Given the description of an element on the screen output the (x, y) to click on. 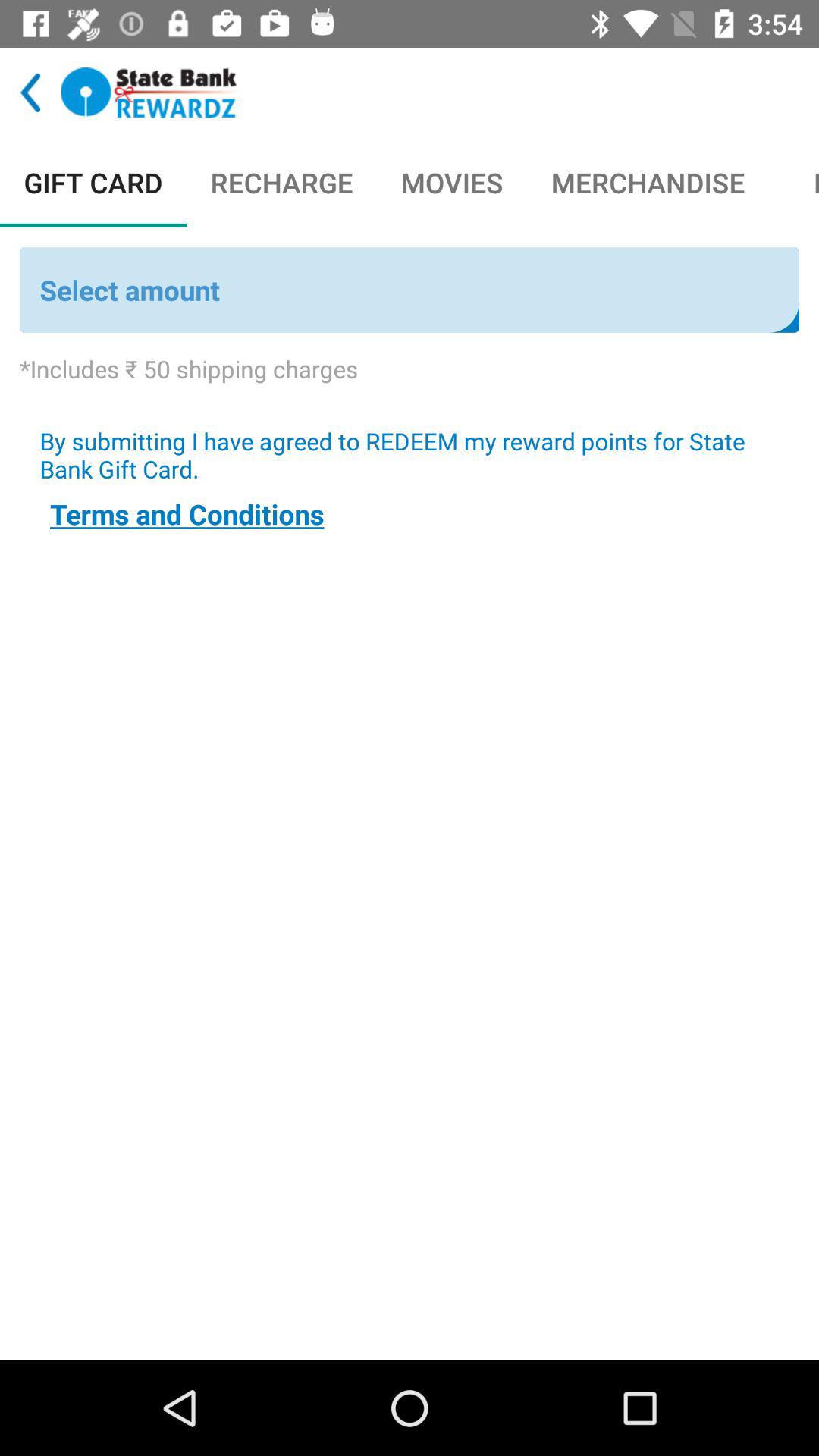
main page (148, 92)
